Given the description of an element on the screen output the (x, y) to click on. 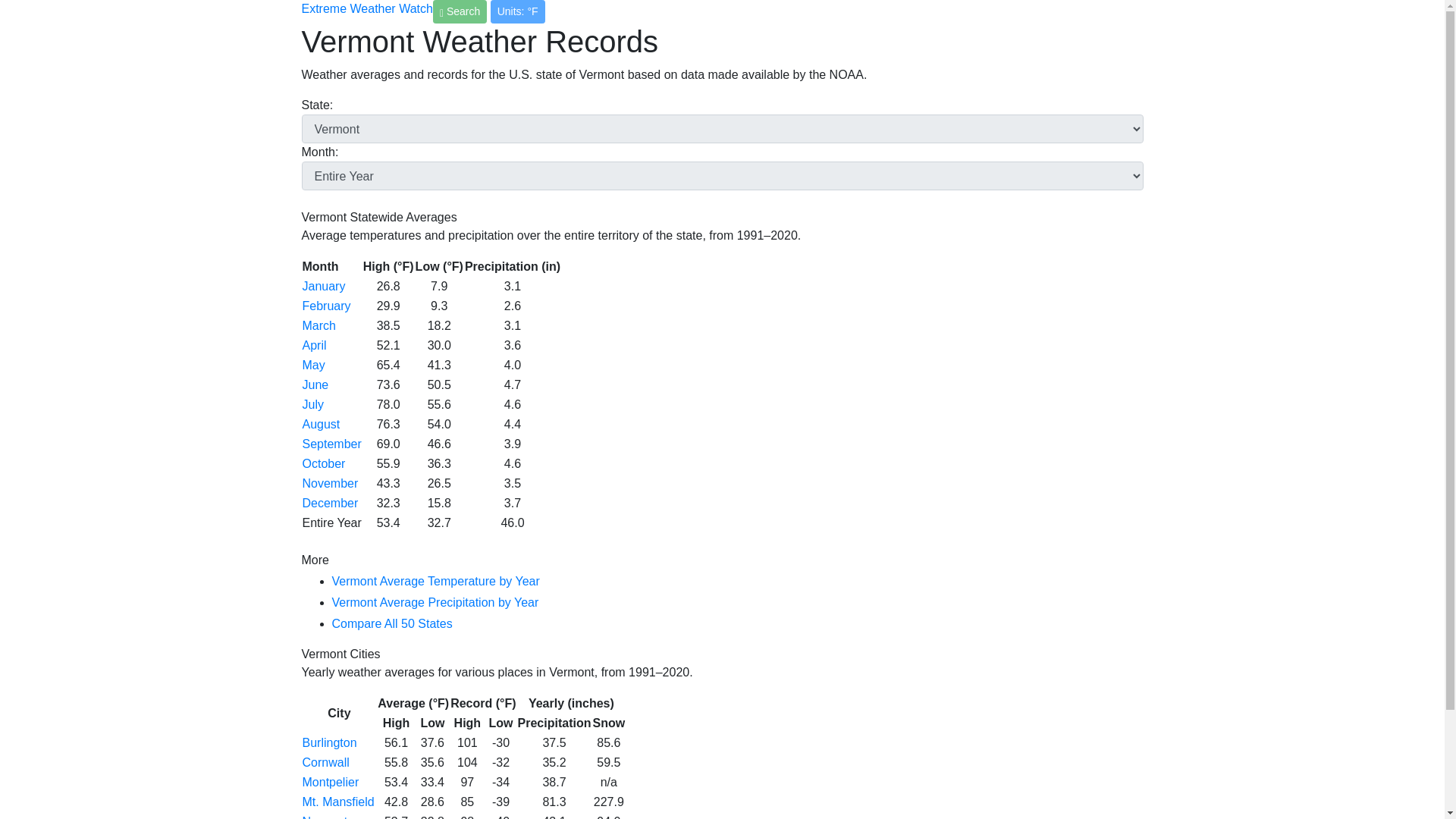
September (331, 443)
Vermont Average Precipitation by Year (434, 602)
Compare All 50 States (391, 623)
December (329, 502)
Search (459, 11)
August (320, 423)
March (317, 325)
October (323, 463)
Burlington (328, 742)
Cornwall (325, 762)
February (325, 305)
January (323, 286)
Montpelier (329, 781)
November (329, 482)
Vermont Average Temperature by Year (435, 581)
